Given the description of an element on the screen output the (x, y) to click on. 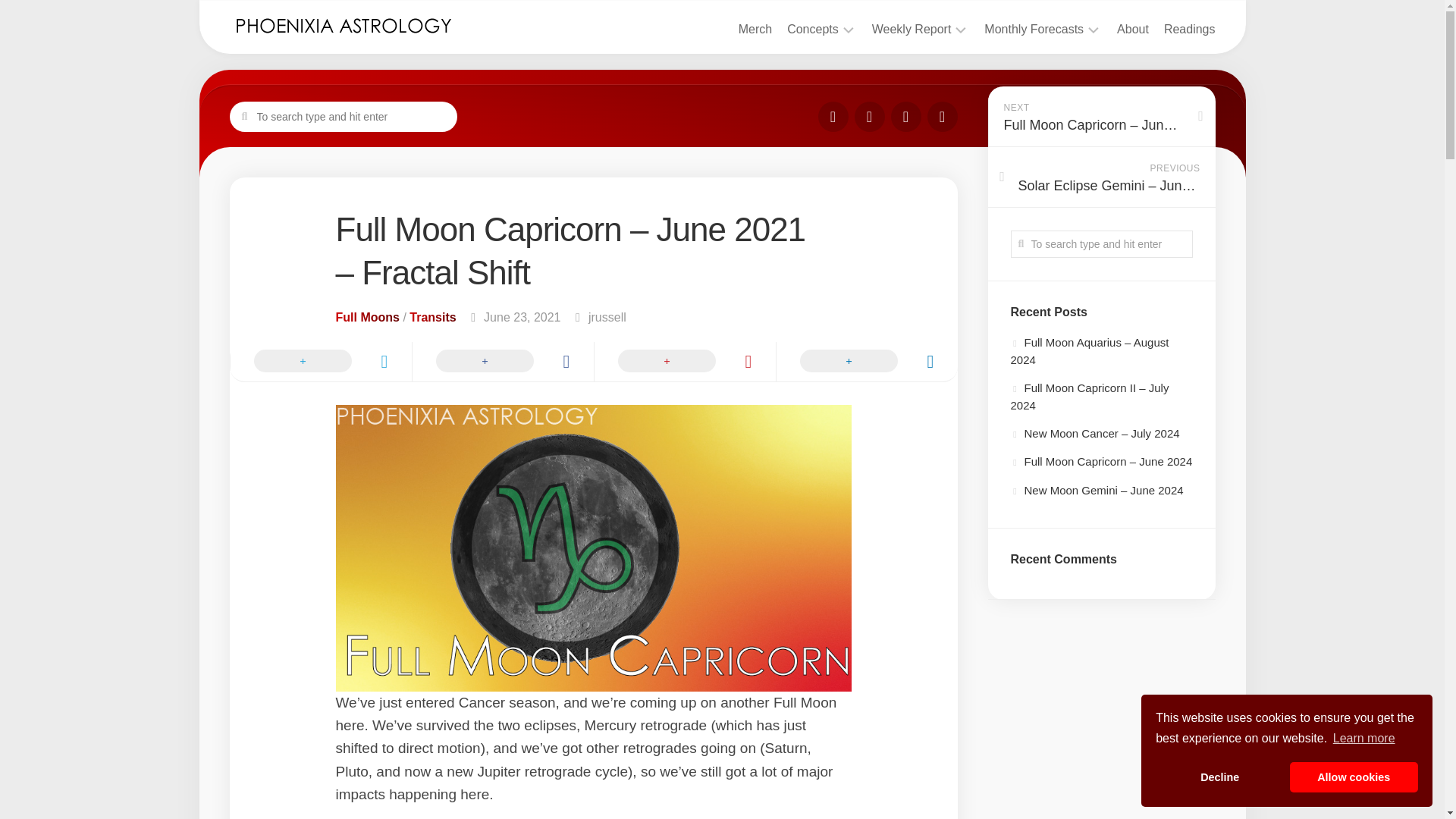
Share on Pinterest (683, 361)
Share on LinkedIn (865, 361)
About (1132, 29)
Facebook (831, 116)
Allow cookies (1354, 777)
Pinterest (904, 116)
Share on Facebook (501, 361)
To search type and hit enter (1101, 243)
Readings (1189, 29)
